Given the description of an element on the screen output the (x, y) to click on. 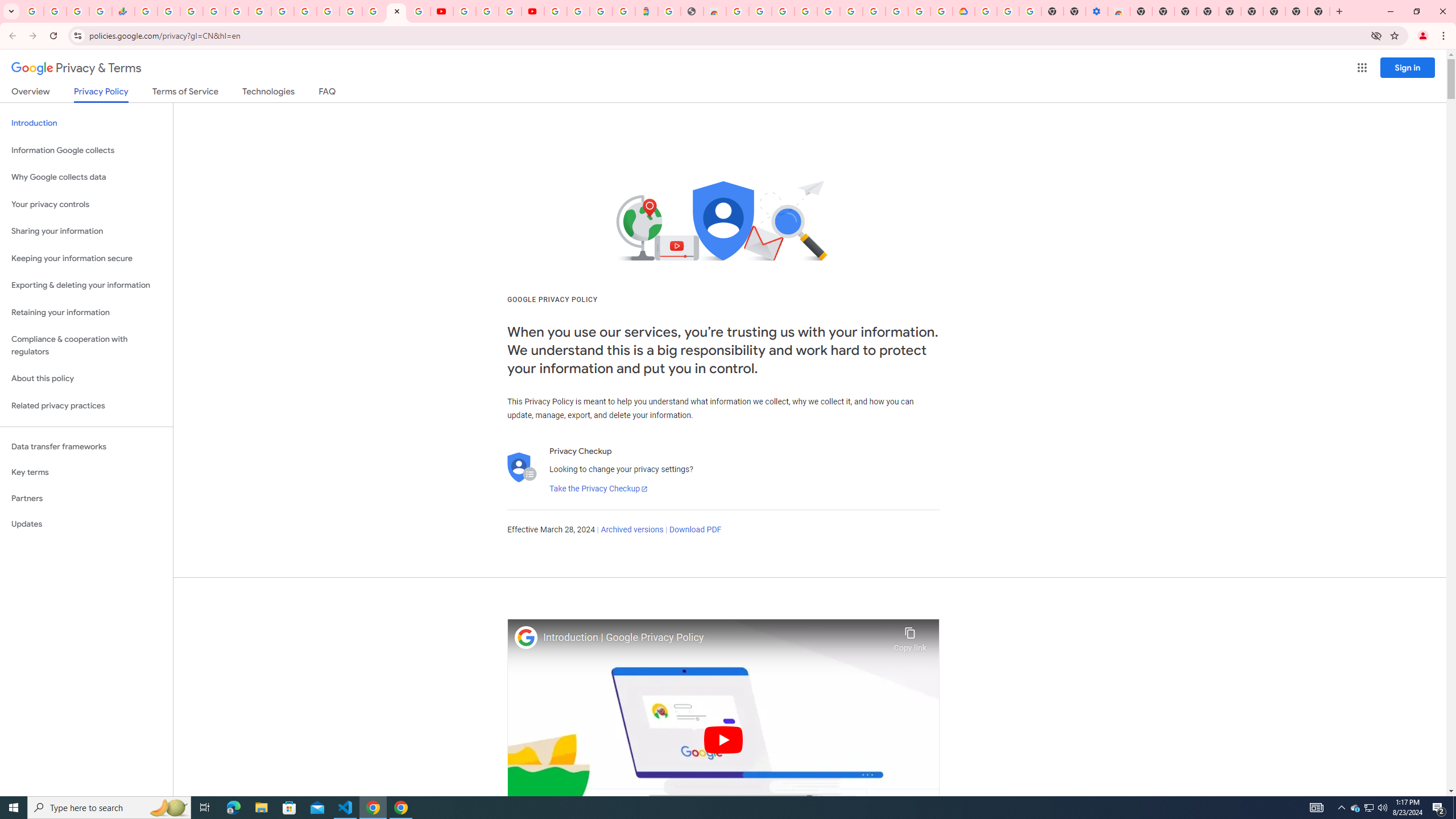
Privacy & Terms (76, 68)
Chrome Web Store - Accessibility extensions (1118, 11)
Sign in - Google Accounts (985, 11)
Minimize (1390, 11)
Sign in - Google Accounts (555, 11)
You (1422, 35)
Photo image of Google (526, 636)
New Tab (1338, 11)
Chrome Web Store - Household (714, 11)
Key terms (86, 472)
Search tabs (10, 11)
Sharing your information (86, 230)
Take the Privacy Checkup (597, 488)
Close (396, 11)
